Given the description of an element on the screen output the (x, y) to click on. 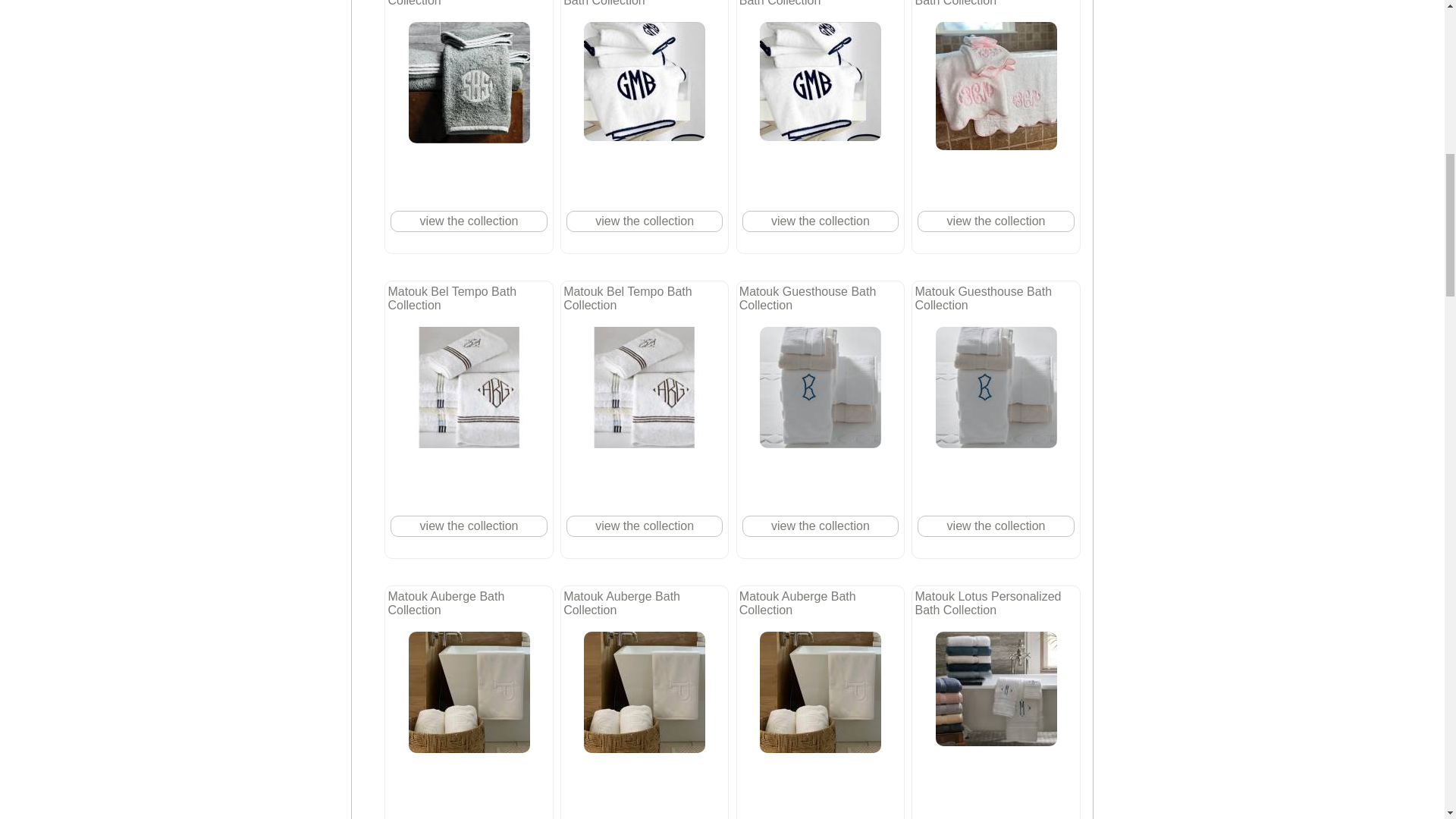
Matouk Guesthouse Bath Collection (996, 386)
Matouk Auberge Bath Collection (820, 691)
Matouk Auberge Bath Collection (469, 691)
Matouk Bel Tempo Bath Collection (469, 386)
Matouk Cairo Scallop Edge Bath Collection (996, 85)
Matouk Enzo Applique Bath Collection (469, 82)
Matouk Cairo Straight Edge Bath Collection (643, 81)
Matouk Bel Tempo Bath Collection (643, 386)
Matouk Lotus Personalized  Bath Collection (996, 688)
Matouk Auberge Bath Collection (643, 691)
Matouk Guesthouse Bath Collection (820, 386)
Matouk Cairo Straight Edge Bath Collection (820, 81)
